Given the description of an element on the screen output the (x, y) to click on. 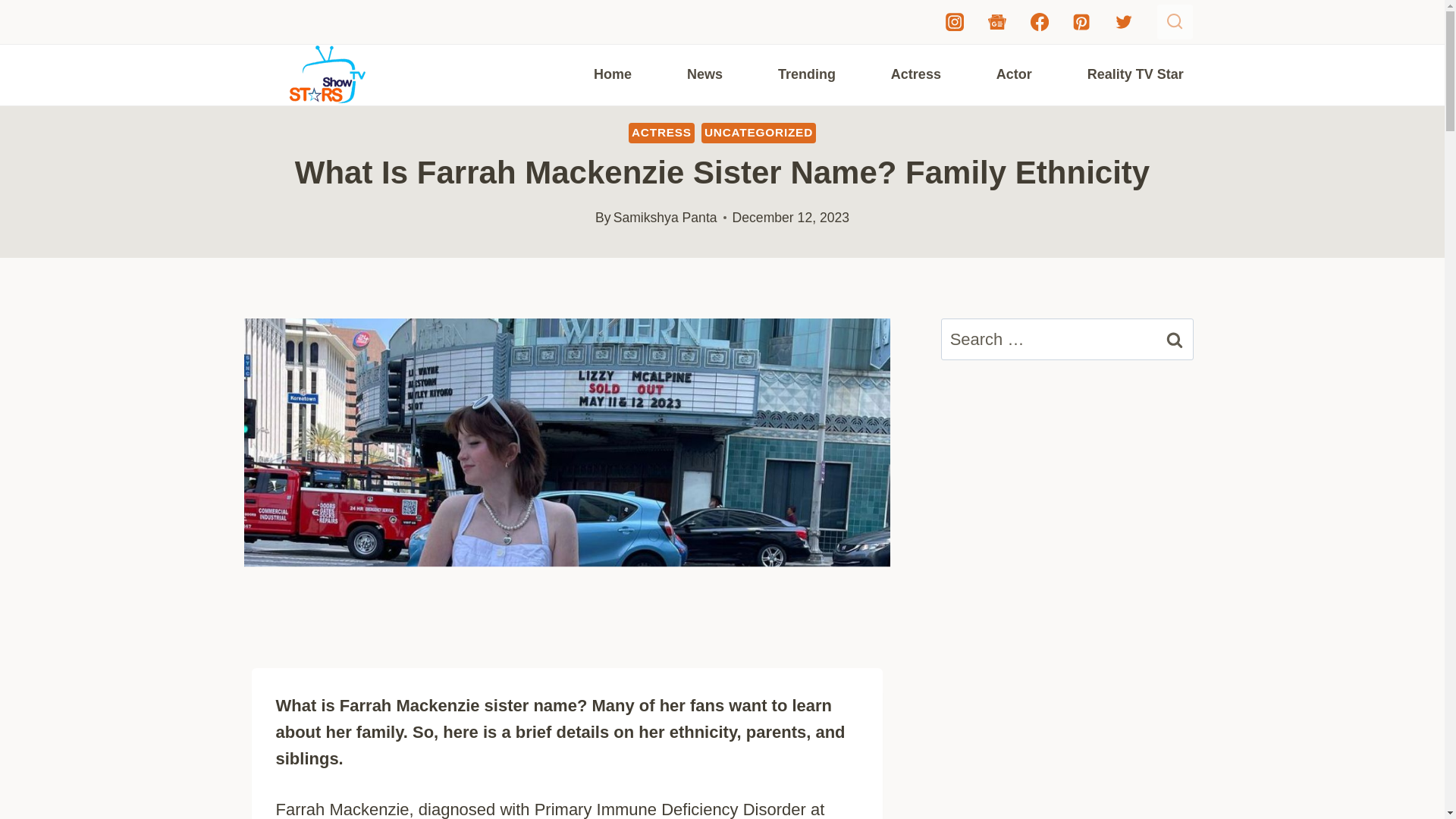
ACTRESS (661, 132)
Search (1174, 339)
Home (611, 74)
Search (1174, 339)
Reality TV Star (1134, 74)
Trending (806, 74)
UNCATEGORIZED (758, 132)
Actress (915, 74)
Search (1174, 339)
Actor (1014, 74)
News (704, 74)
